Given the description of an element on the screen output the (x, y) to click on. 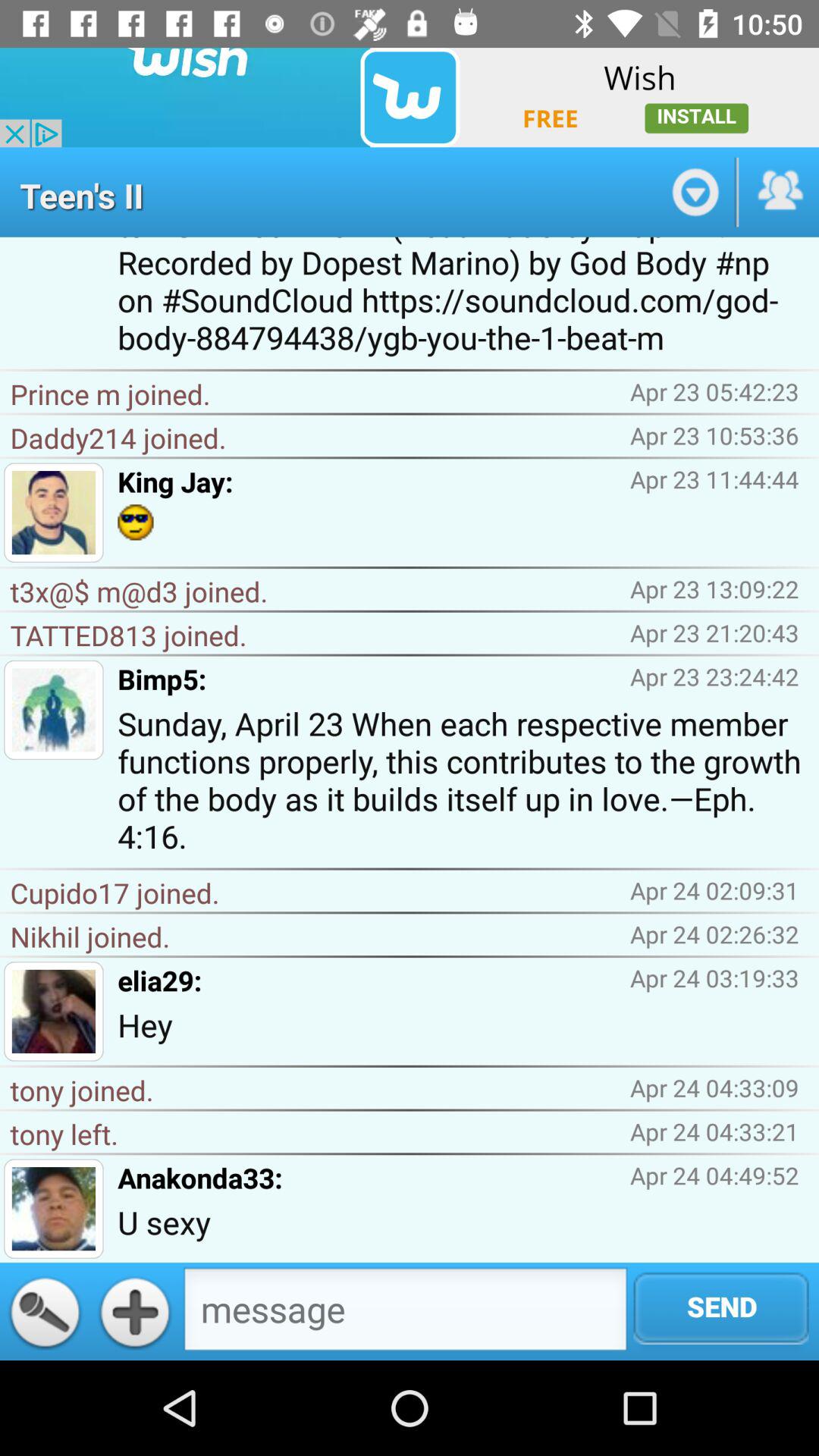
optional (694, 192)
